Given the description of an element on the screen output the (x, y) to click on. 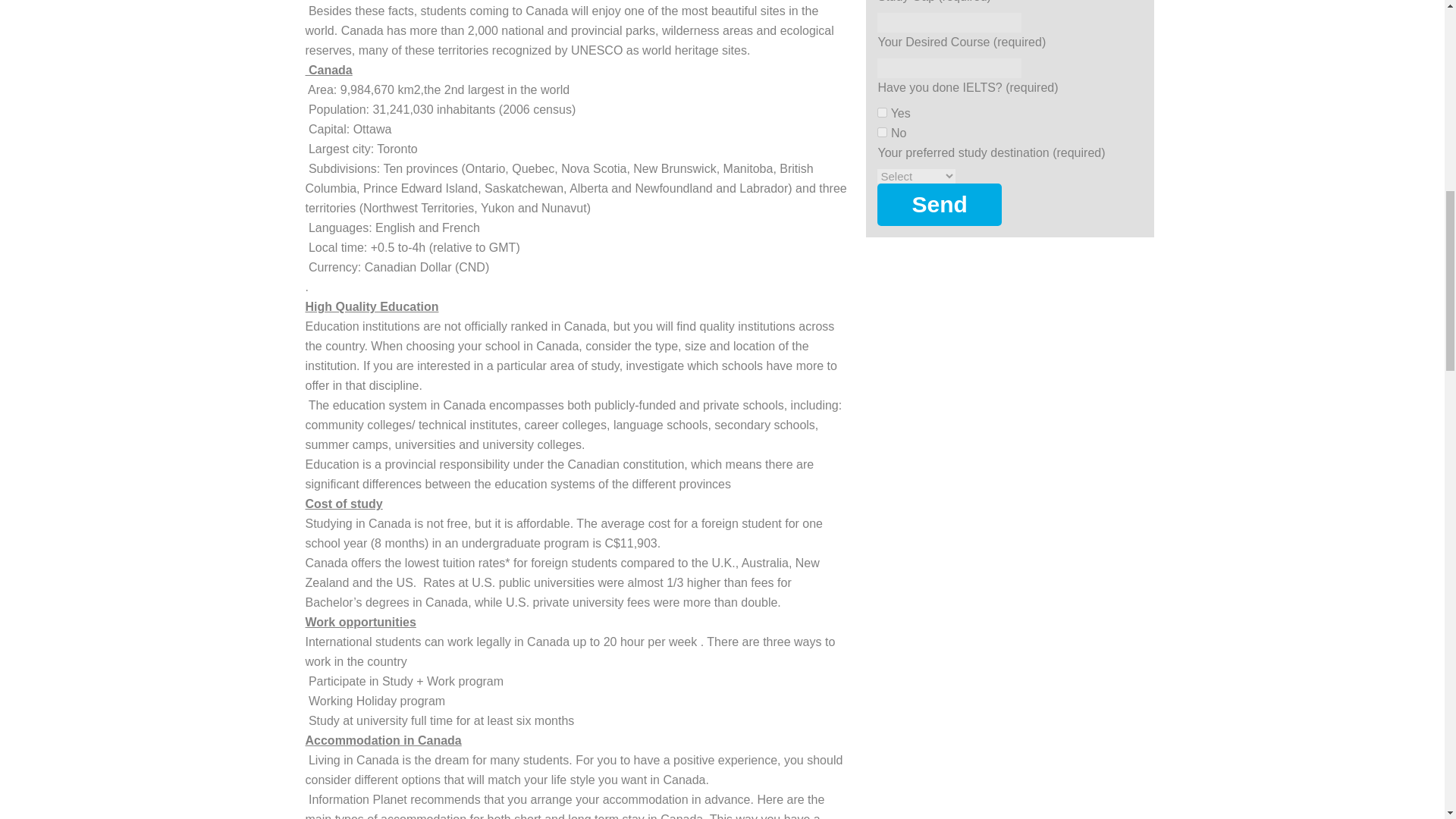
Send (939, 204)
No (881, 132)
Yes (881, 112)
